Given the description of an element on the screen output the (x, y) to click on. 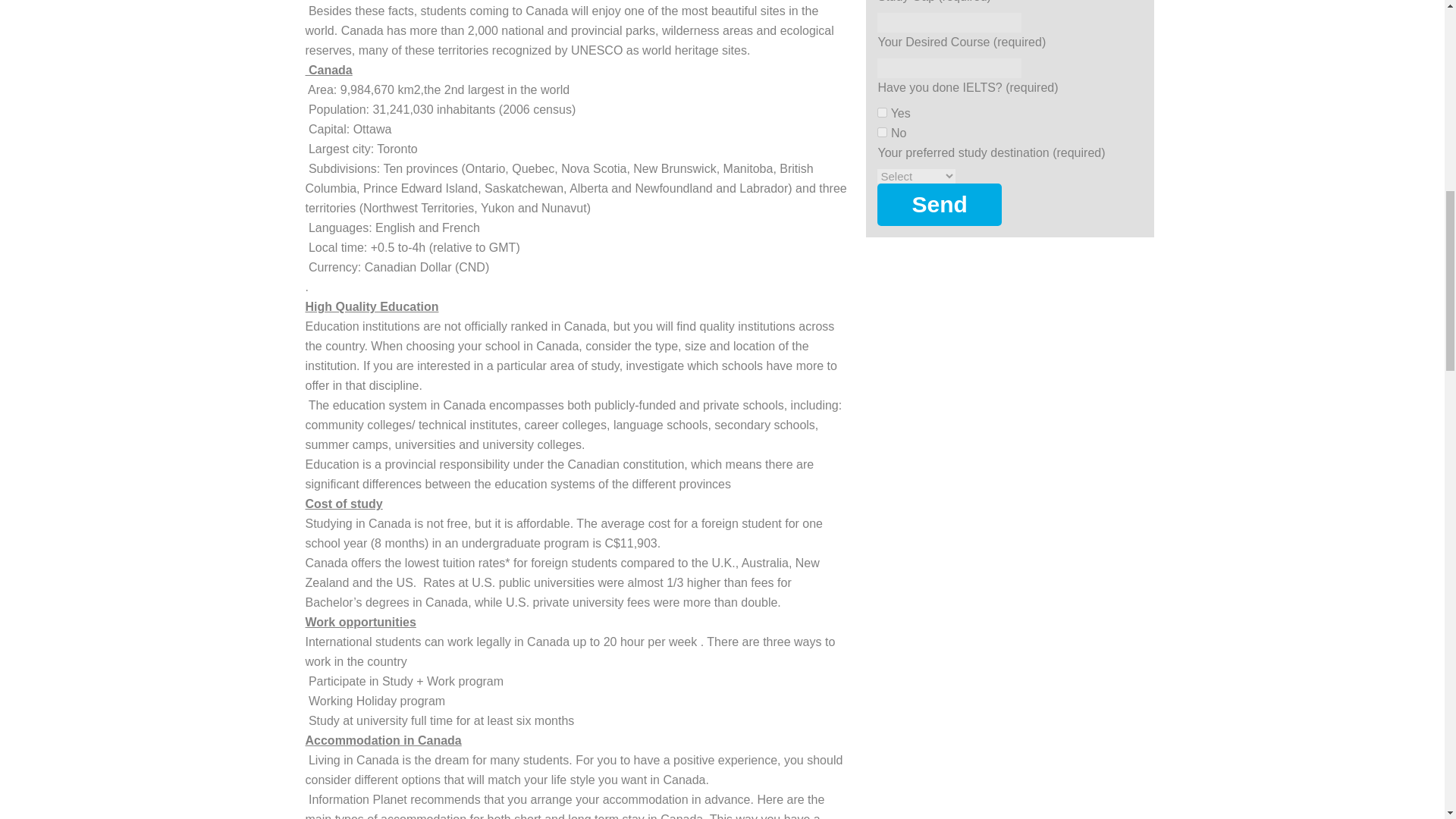
Send (939, 204)
No (881, 132)
Yes (881, 112)
